Given the description of an element on the screen output the (x, y) to click on. 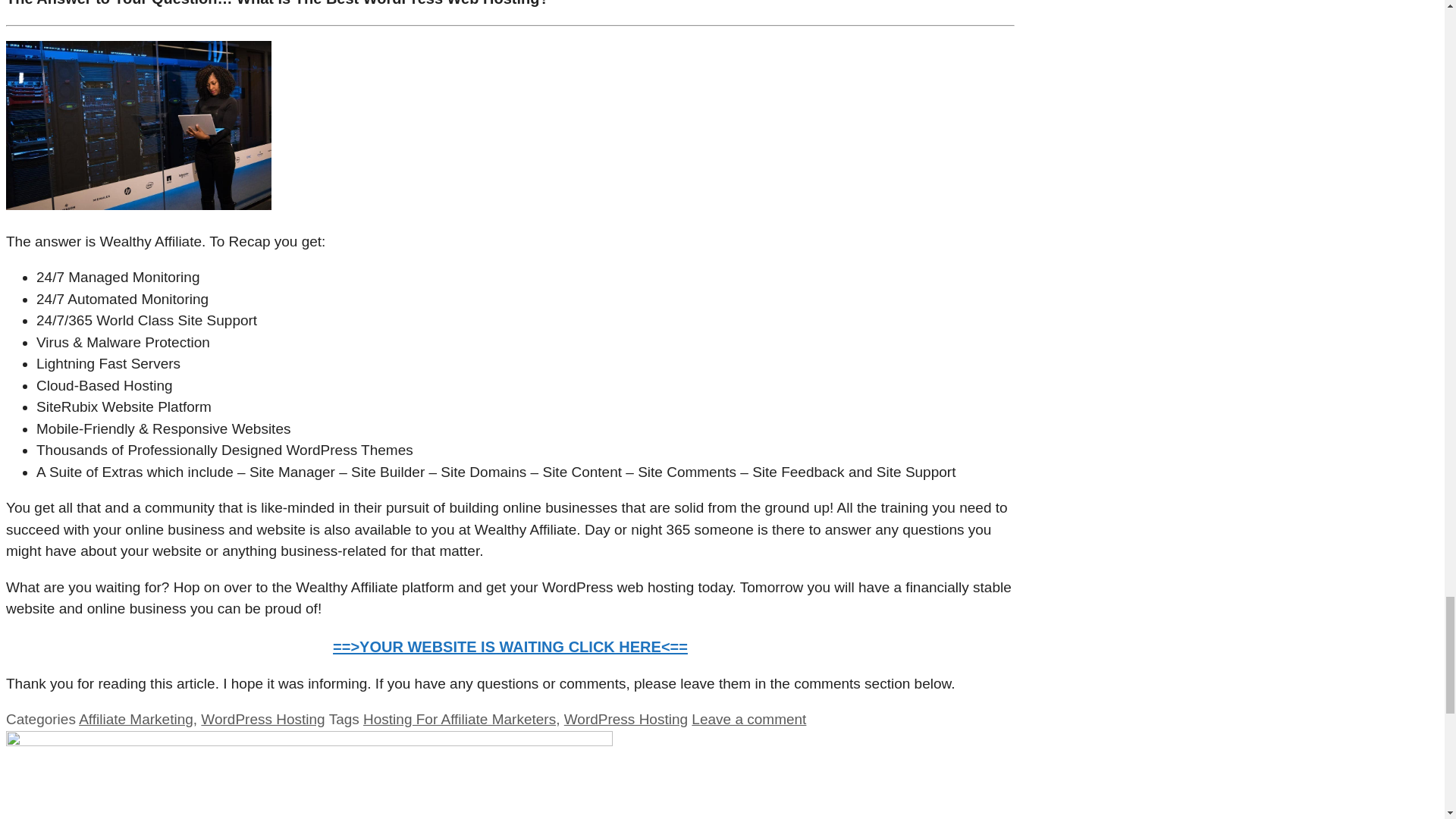
WordPress Web Hosting (137, 124)
WordPress Hosting (262, 719)
WordPress Hosting (625, 719)
Affiliate Marketing (135, 719)
Leave a comment (748, 719)
Hosting For Affiliate Marketers (459, 719)
